Given the description of an element on the screen output the (x, y) to click on. 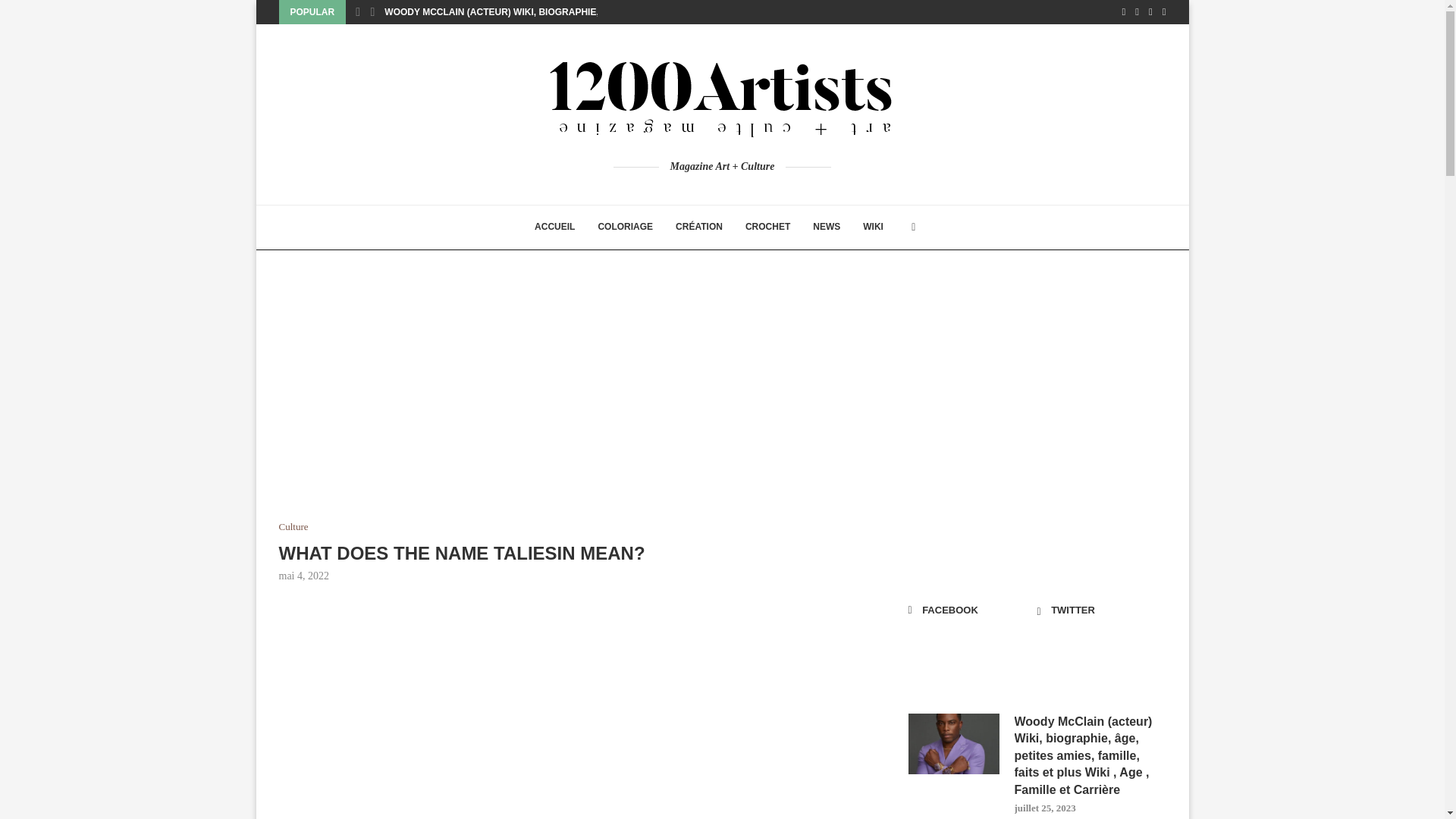
WIKI (873, 227)
Advertisement (574, 408)
CROCHET (767, 227)
Advertisement (574, 713)
COLORIAGE (624, 227)
NEWS (826, 227)
Advertisement (1037, 408)
Culture (293, 526)
ACCUEIL (554, 227)
